Given the description of an element on the screen output the (x, y) to click on. 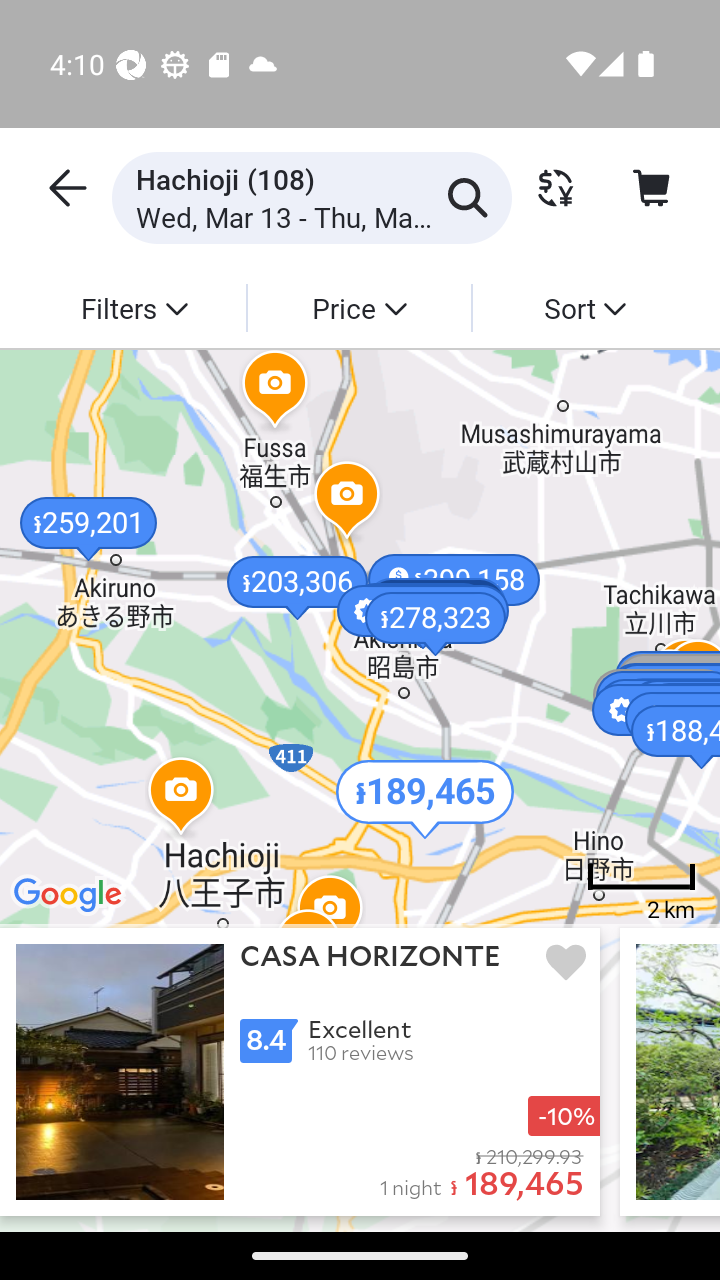
Filters (134, 307)
Price (358, 307)
Sort (584, 307)
